Given the description of an element on the screen output the (x, y) to click on. 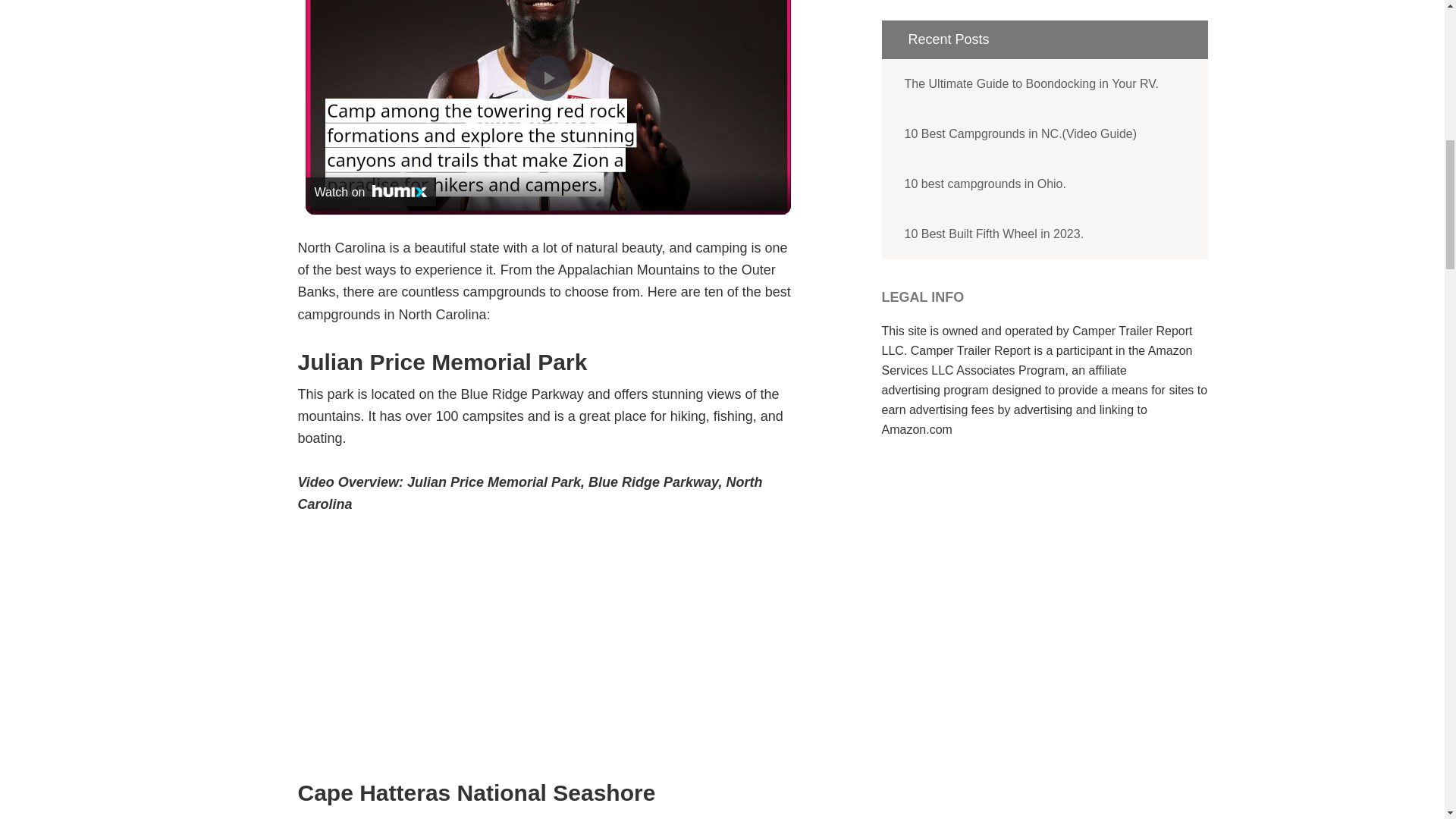
The Ultimate Guide to Boondocking in Your RV. (1043, 83)
Play Video (547, 77)
Play Video (547, 77)
Watch on (369, 191)
